Given the description of an element on the screen output the (x, y) to click on. 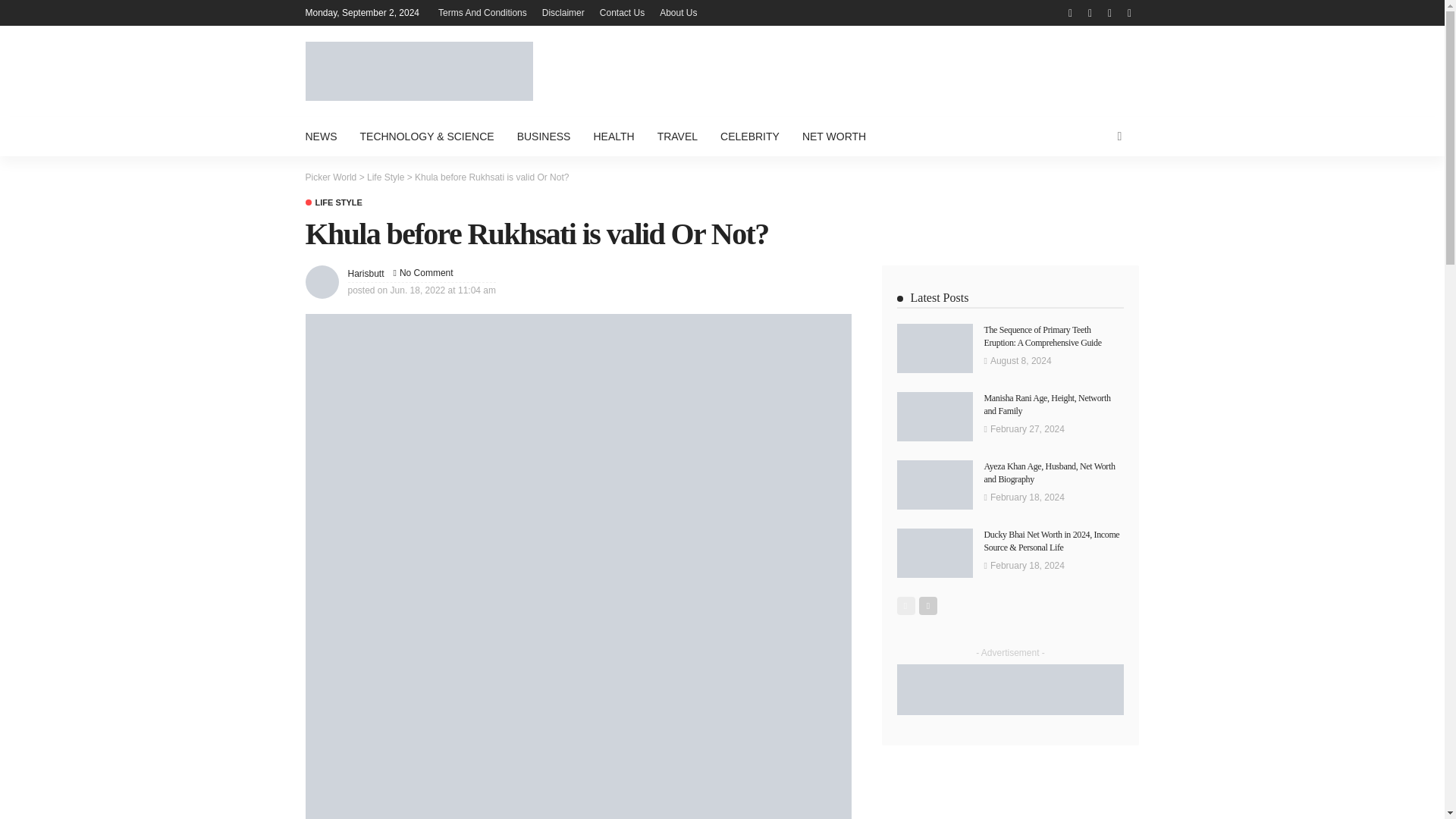
CELEBRITY (749, 136)
TRAVEL (677, 136)
search (1118, 136)
Disclaimer (563, 12)
Contact Us (622, 12)
BUSINESS (543, 136)
Go to Picker World. (330, 176)
Terms And Conditions (482, 12)
LIFE STYLE (332, 203)
HEALTH (612, 136)
